Given the description of an element on the screen output the (x, y) to click on. 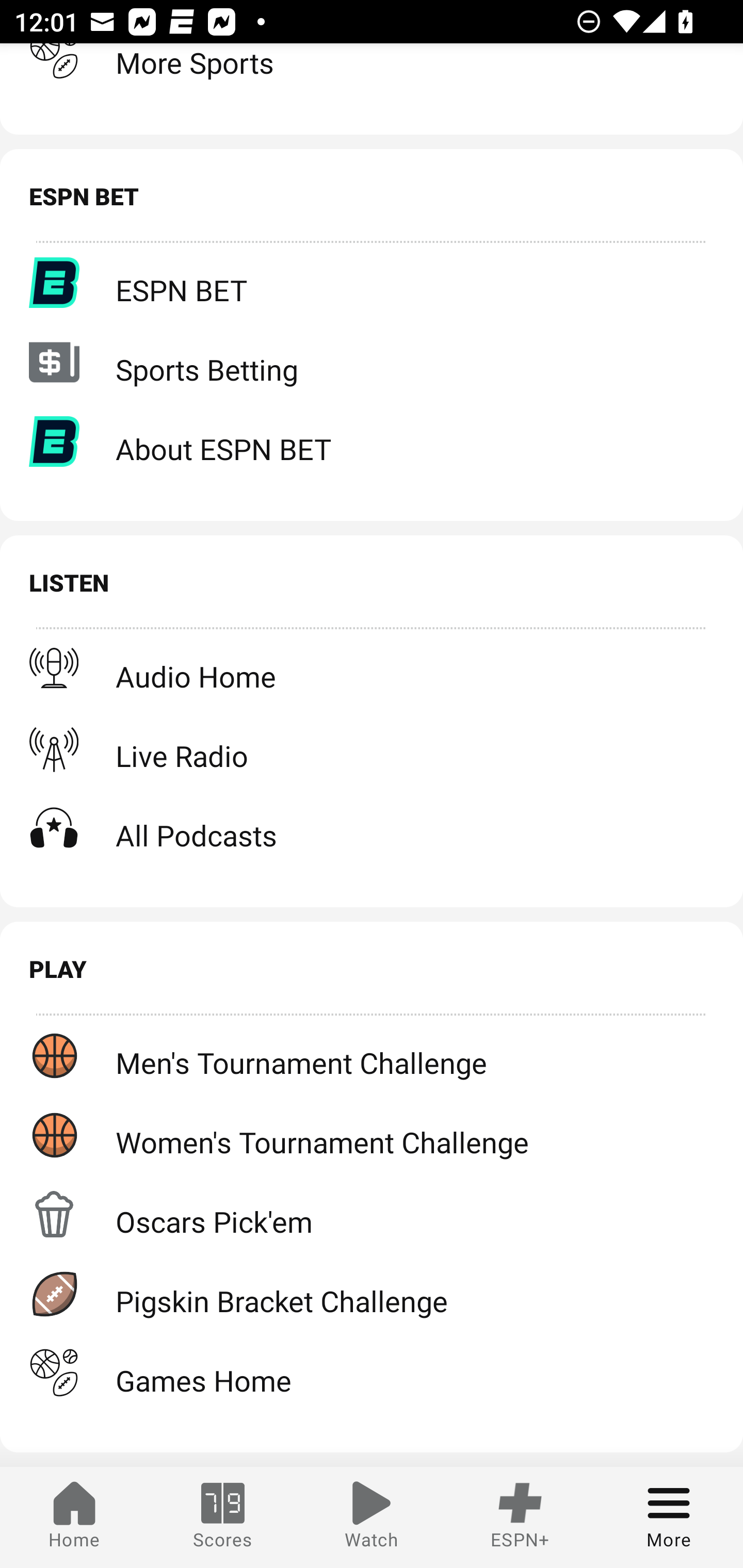
More Sports A More Sports (371, 69)
ESPN BET (371, 283)
Sports Betting (371, 362)
About ESPN BET (371, 441)
Audio Home + Audio Home (371, 668)
Live Radio ) Live Radio (371, 748)
All Podcasts  All Podcasts (371, 827)
Men's Tournament Challenge (371, 1055)
Women's Tournament Challenge (371, 1134)
Oscars Pick'em (371, 1214)
Pigskin Bracket Challenge (371, 1293)
Games Home A Games Home (371, 1372)
Home (74, 1517)
Scores (222, 1517)
Watch (371, 1517)
ESPN+ (519, 1517)
